Given the description of an element on the screen output the (x, y) to click on. 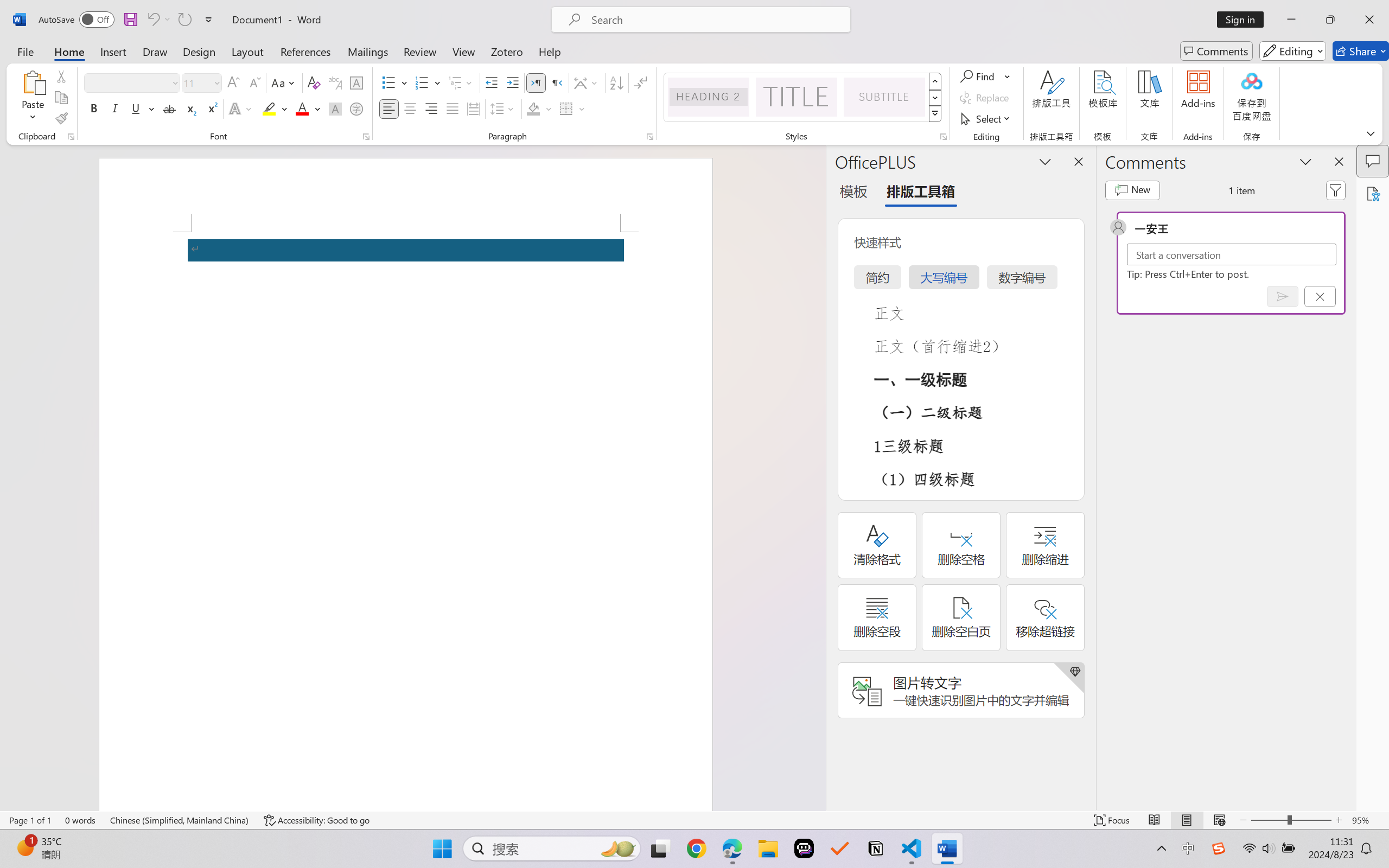
Shading No Color (533, 108)
Accessibility Assistant (1373, 193)
